Given the description of an element on the screen output the (x, y) to click on. 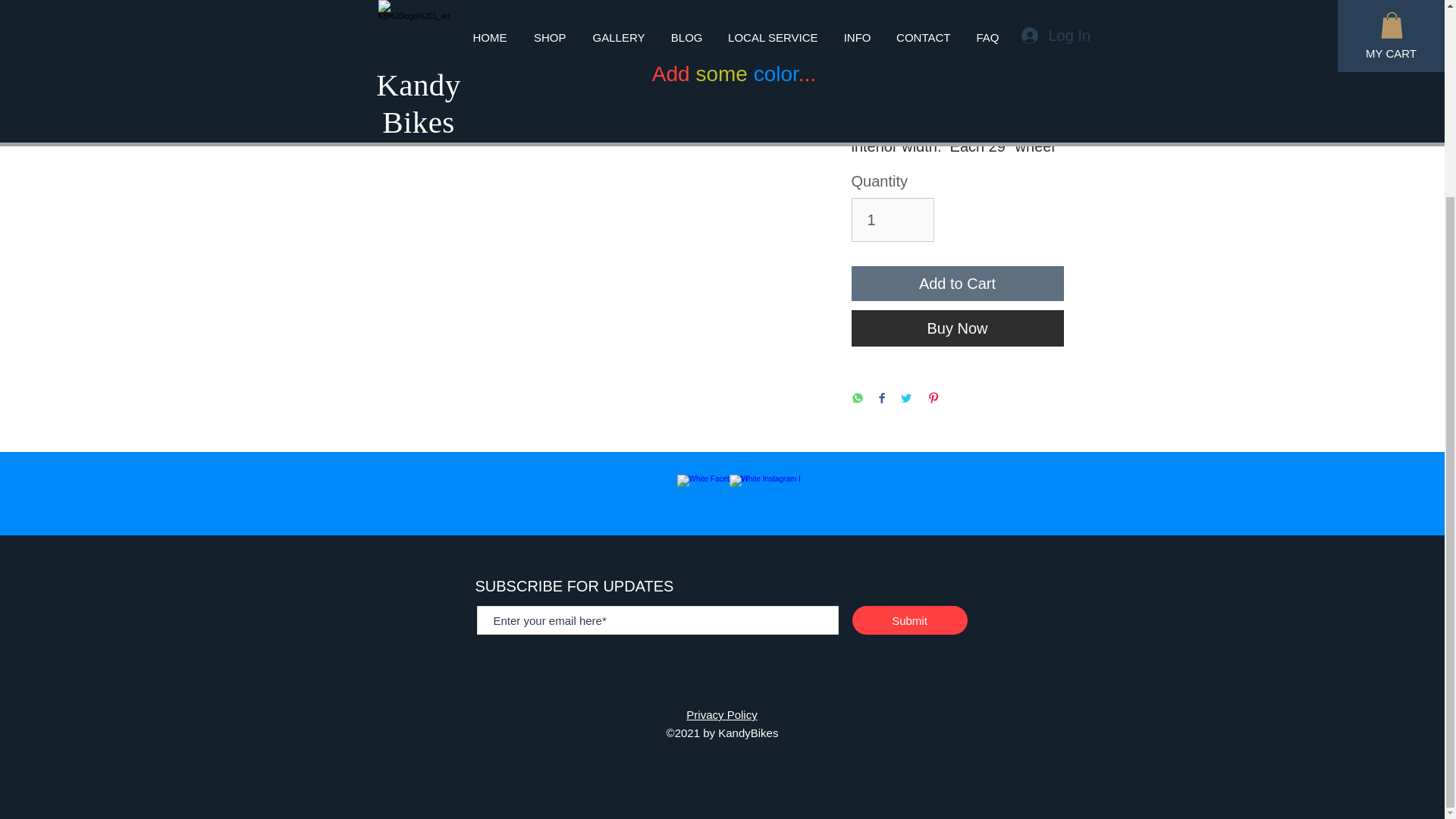
Buy Now (956, 328)
Submit (909, 620)
Add to Cart (956, 283)
1 (891, 219)
Privacy Policy (721, 714)
